Given the description of an element on the screen output the (x, y) to click on. 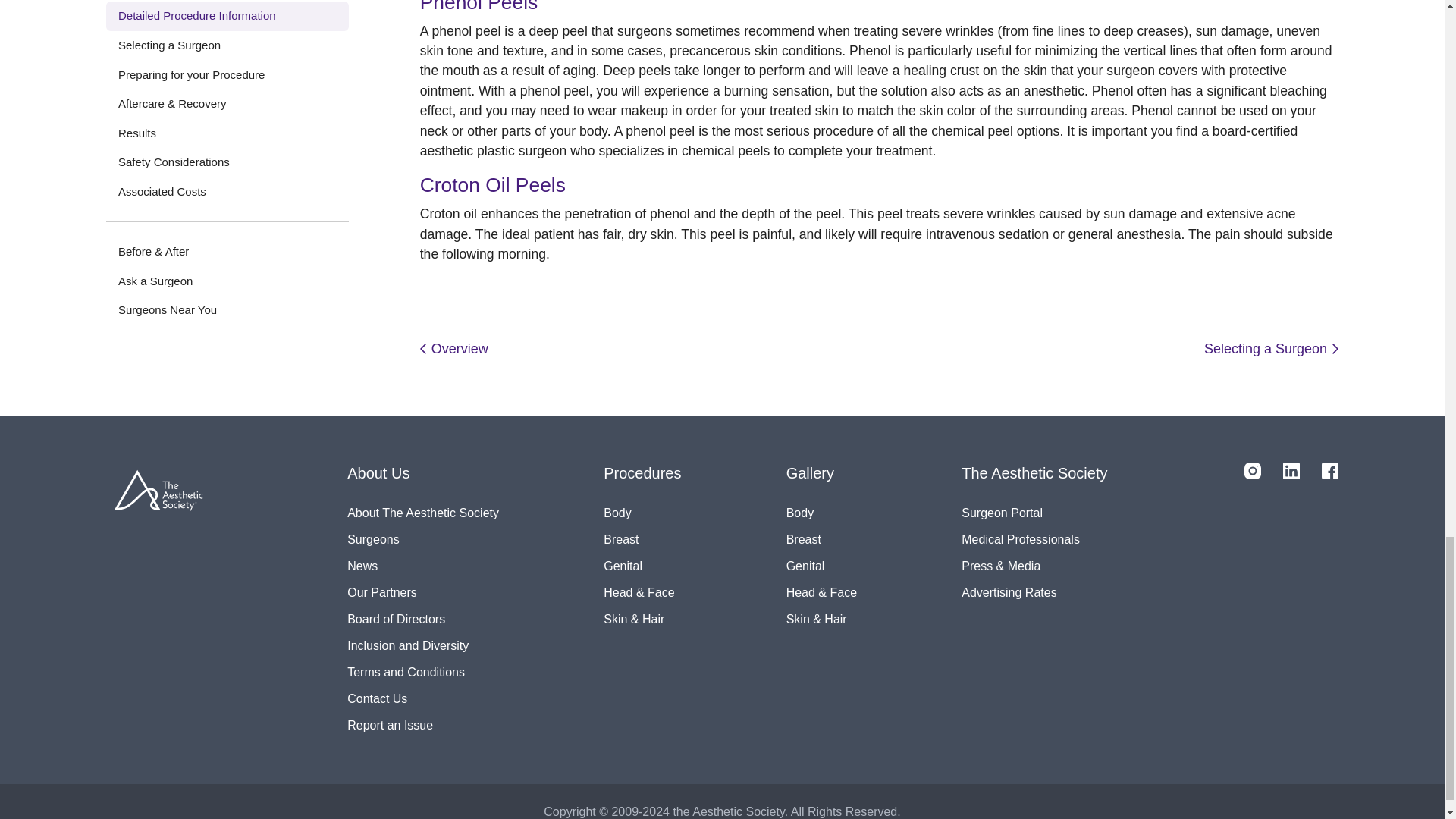
Medical Professionals (1033, 539)
Genital (821, 565)
Our Partners (423, 592)
About The Aesthetic Society (423, 511)
Board of Directors (423, 618)
The Aesthetic Society Inclusion and Diversity Statement (423, 645)
Genital (642, 565)
Contact Us (423, 698)
